Given the description of an element on the screen output the (x, y) to click on. 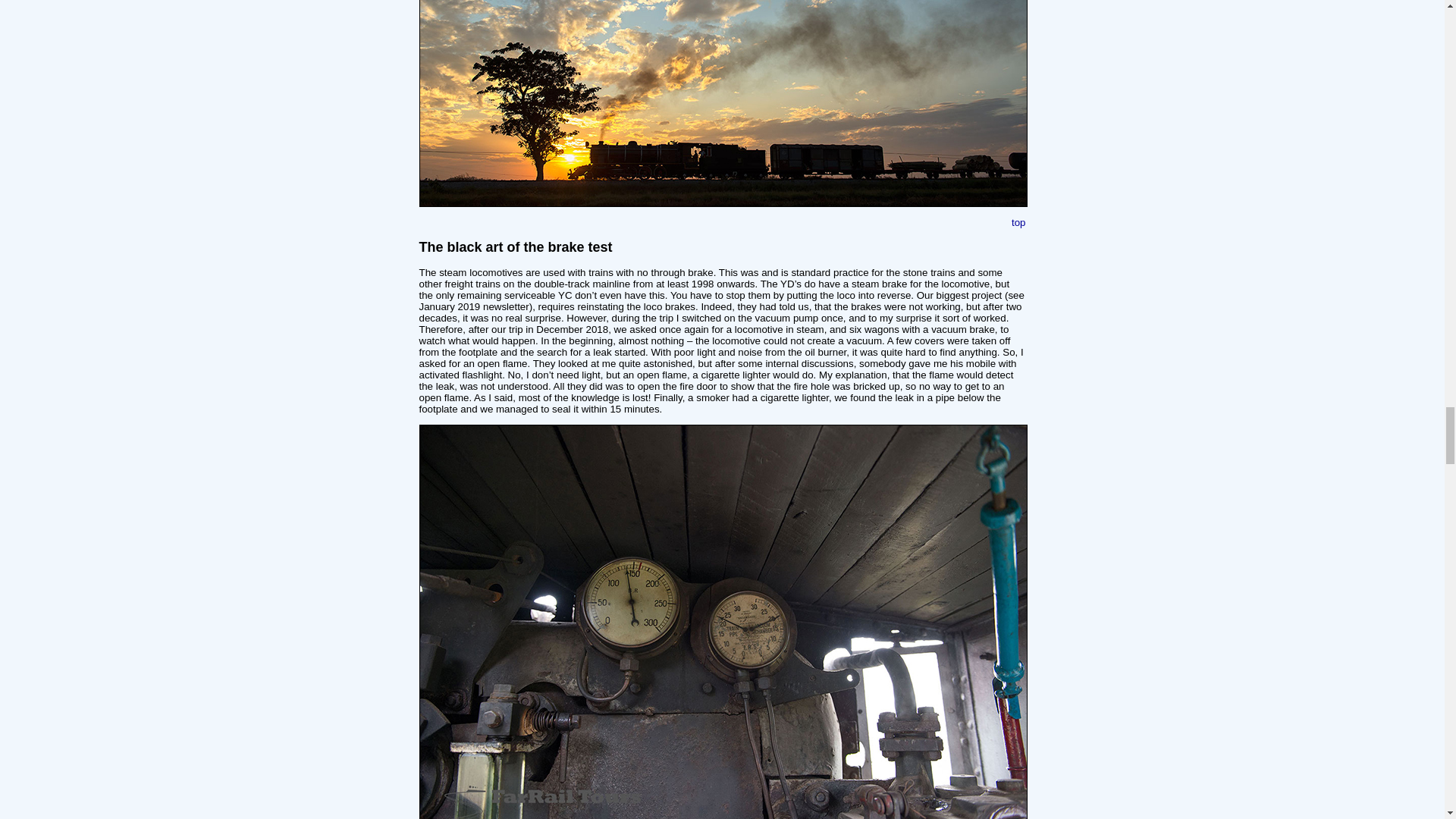
top (1018, 222)
